Given the description of an element on the screen output the (x, y) to click on. 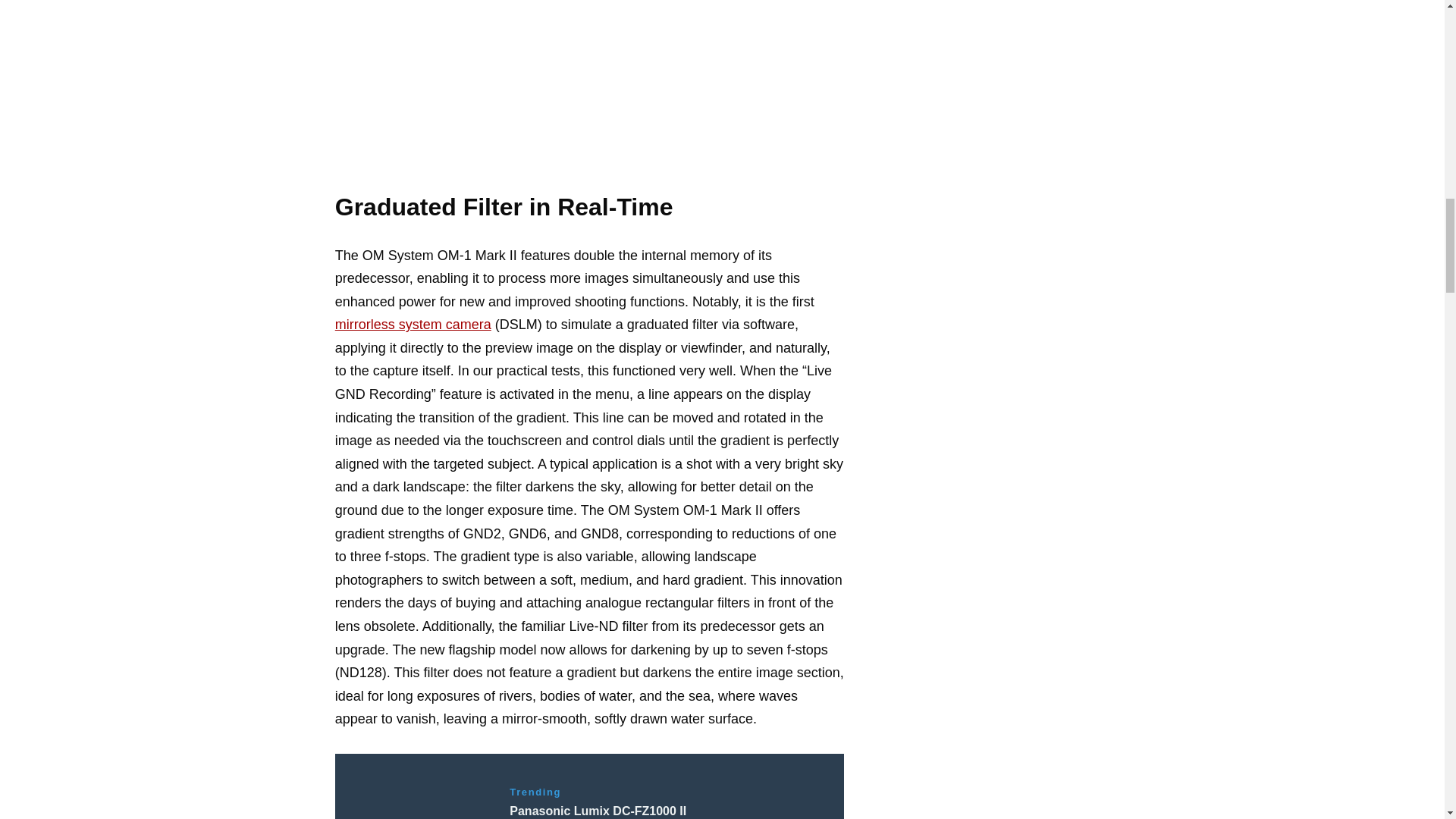
OM-1 Mark II: Next-Gen Mirrorless Camera 2 (589, 85)
